Given the description of an element on the screen output the (x, y) to click on. 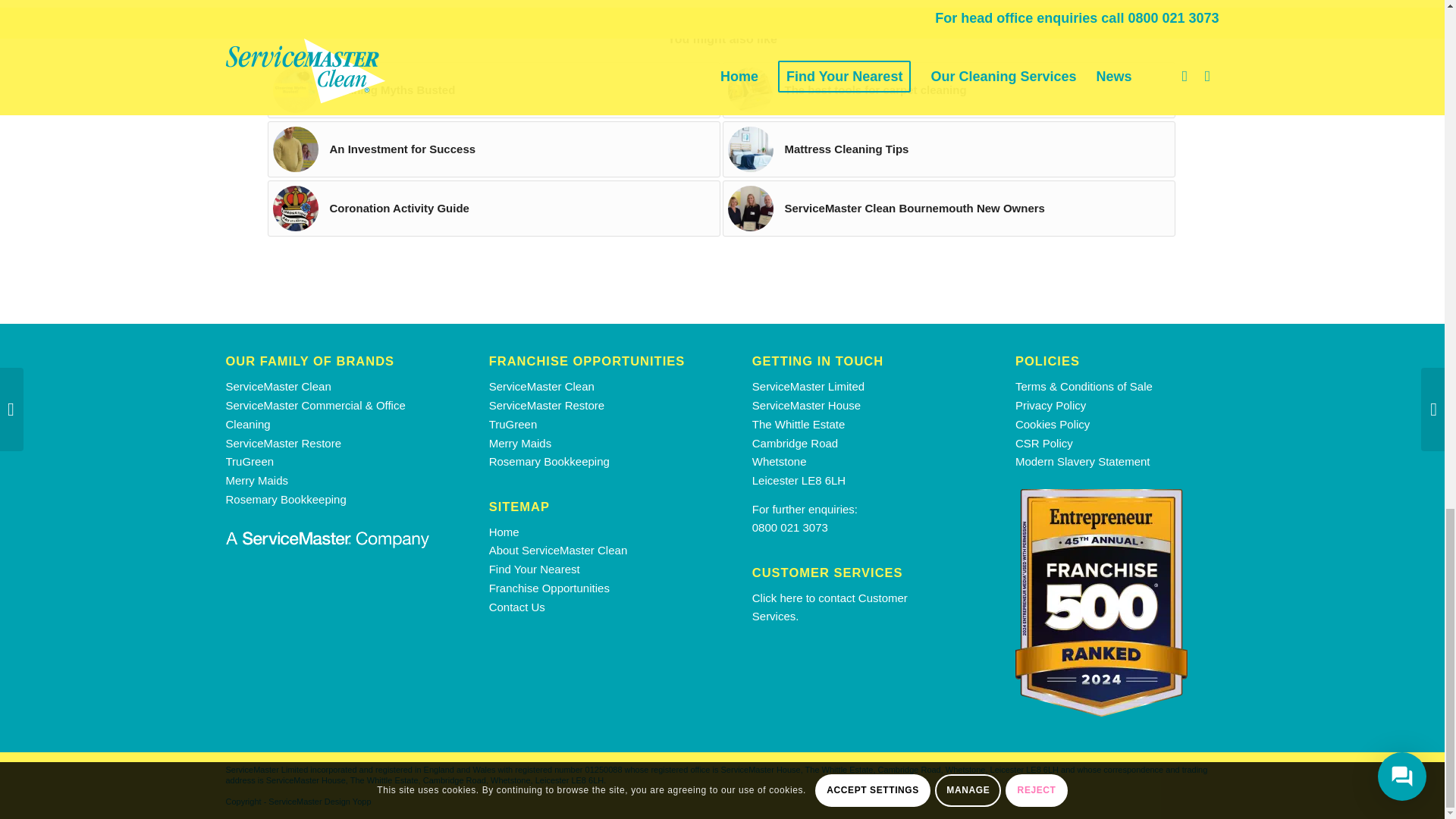
The best tools for carpet cleaning (948, 89)
Cleaning Myths Busted (492, 89)
Cleaning Myths Busted (492, 89)
An Investment for Success (492, 149)
